Given the description of an element on the screen output the (x, y) to click on. 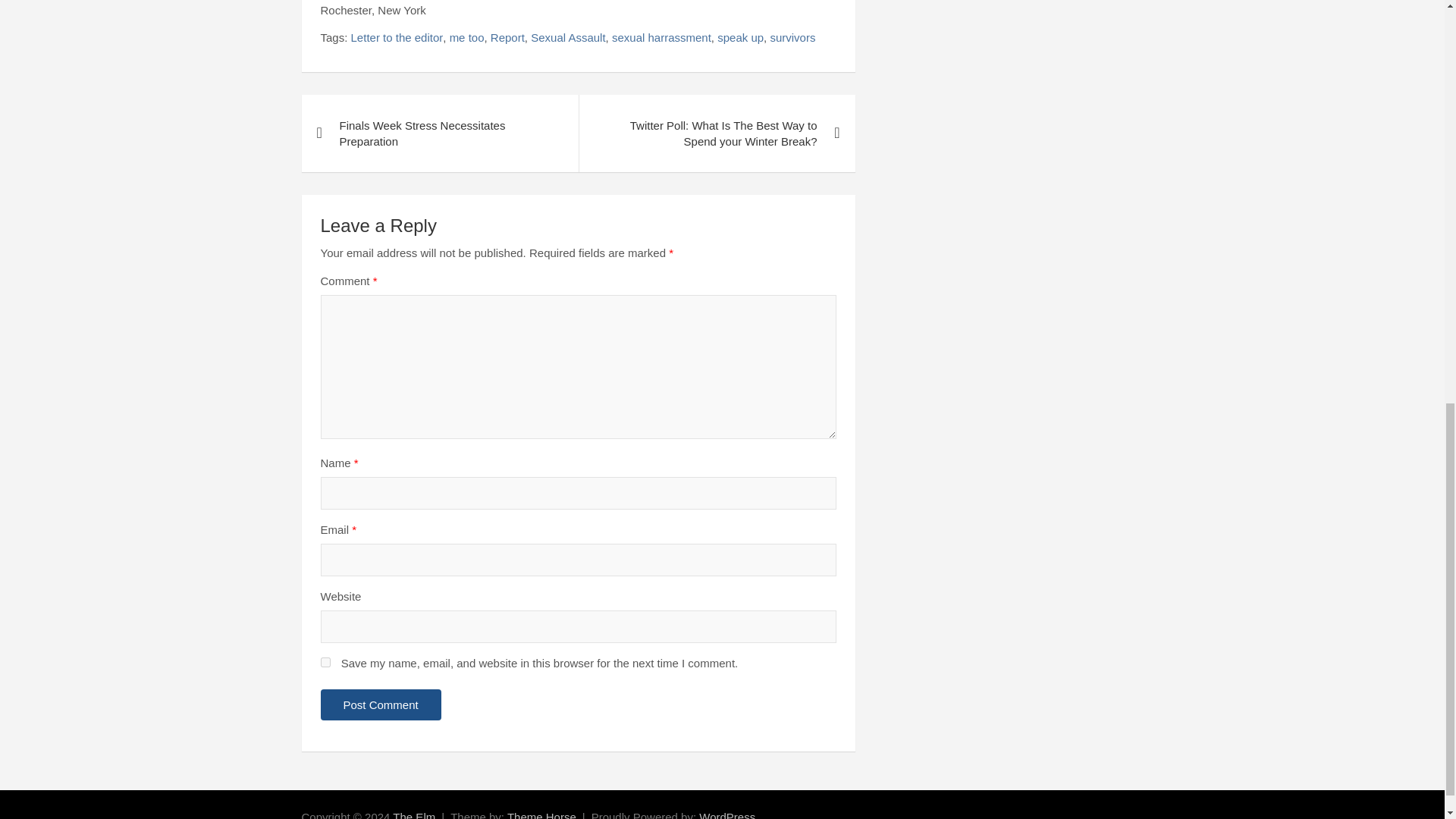
speak up (739, 37)
WordPress (726, 814)
Finals Week Stress Necessitates Preparation (439, 133)
The Elm (414, 814)
yes (325, 662)
survivors (792, 37)
Post Comment (380, 704)
Report (507, 37)
sexual harrassment (661, 37)
me too (466, 37)
